Given the description of an element on the screen output the (x, y) to click on. 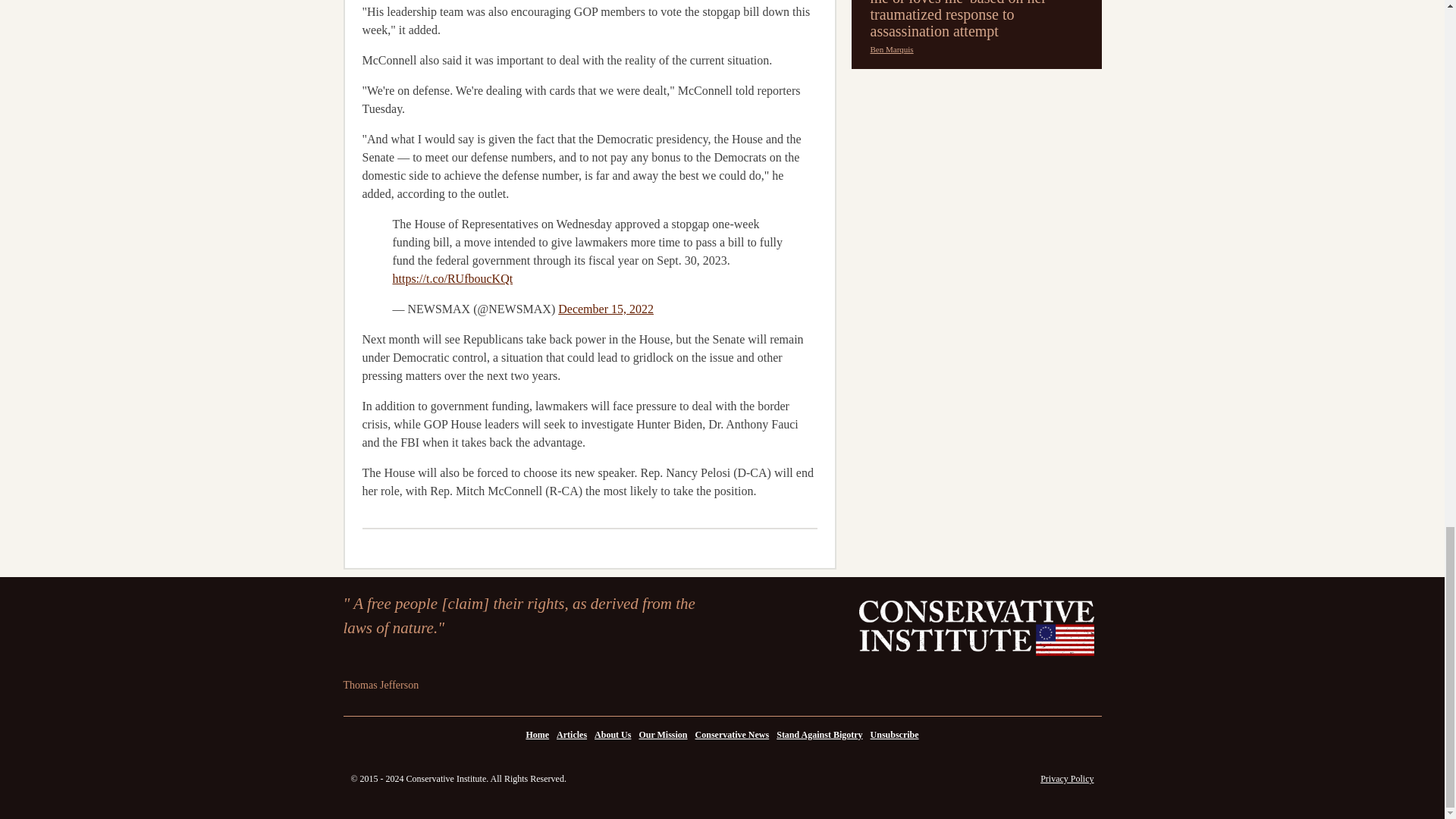
Home (537, 735)
December 15, 2022 (605, 308)
Our Mission (662, 735)
Advertisement (975, 95)
Ben Marquis (892, 49)
Articles (572, 735)
Conservative News (732, 735)
About Us (612, 735)
